Given the description of an element on the screen output the (x, y) to click on. 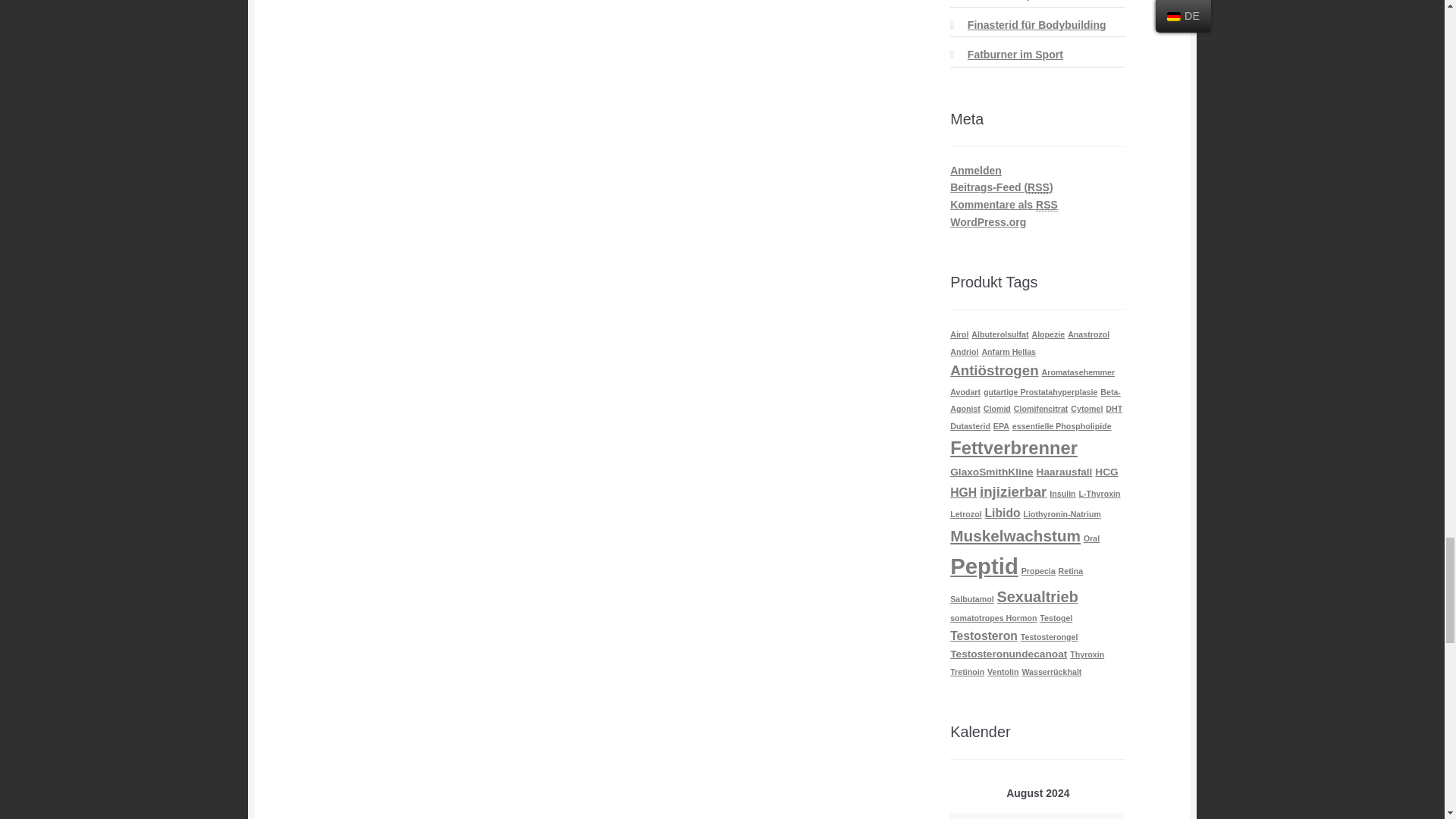
Dienstag (987, 816)
Sonntag (1112, 816)
Really Simple Syndication (1038, 187)
Samstag (1087, 816)
Really Simple Syndication (1046, 205)
Mittwoch (1012, 816)
Freitag (1062, 816)
Donnerstag (1037, 816)
Montag (962, 816)
